Given the description of an element on the screen output the (x, y) to click on. 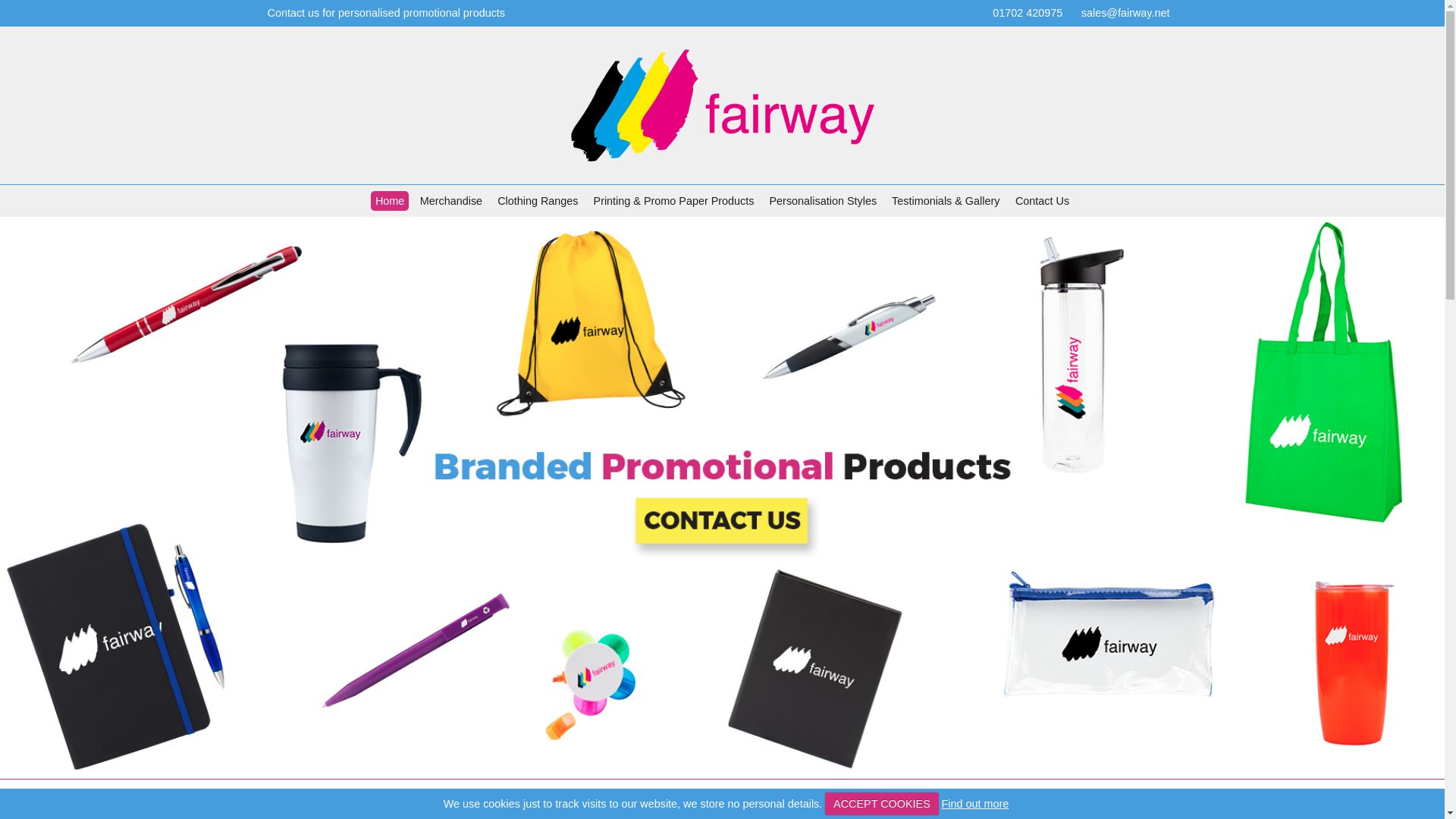
Personalisation Styles (823, 200)
Merchandise (451, 200)
Contact us for personalised promotional products (385, 12)
Home (390, 200)
Clothing Ranges (539, 200)
